Given the description of an element on the screen output the (x, y) to click on. 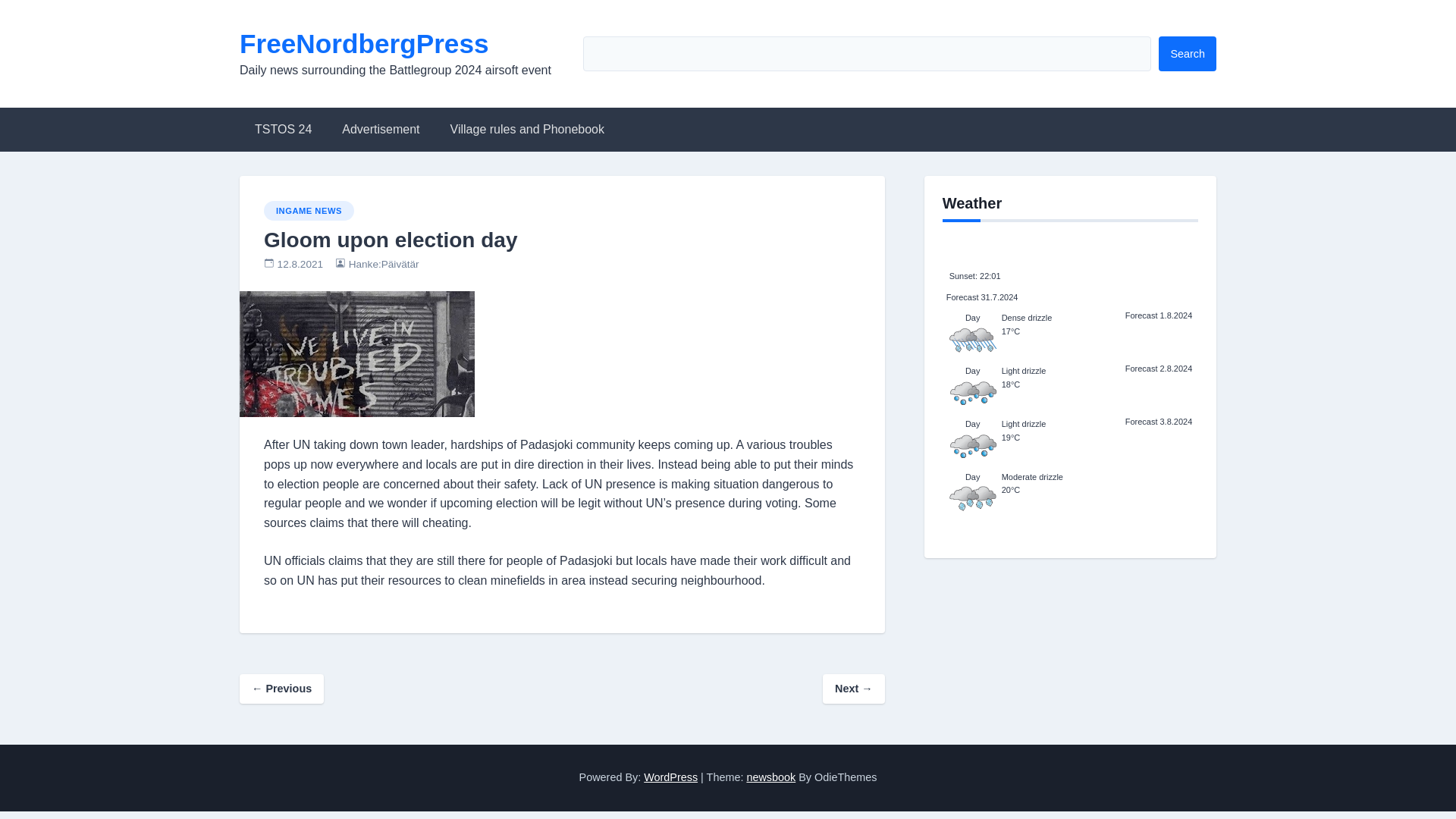
12.8.2021 (300, 264)
TSTOS 24 (283, 129)
Search (1186, 53)
newsbook (769, 776)
INGAME NEWS (308, 210)
WordPress (670, 776)
Advertisement (379, 129)
Village rules and Phonebook (527, 129)
FreeNordbergPress (364, 43)
